Given the description of an element on the screen output the (x, y) to click on. 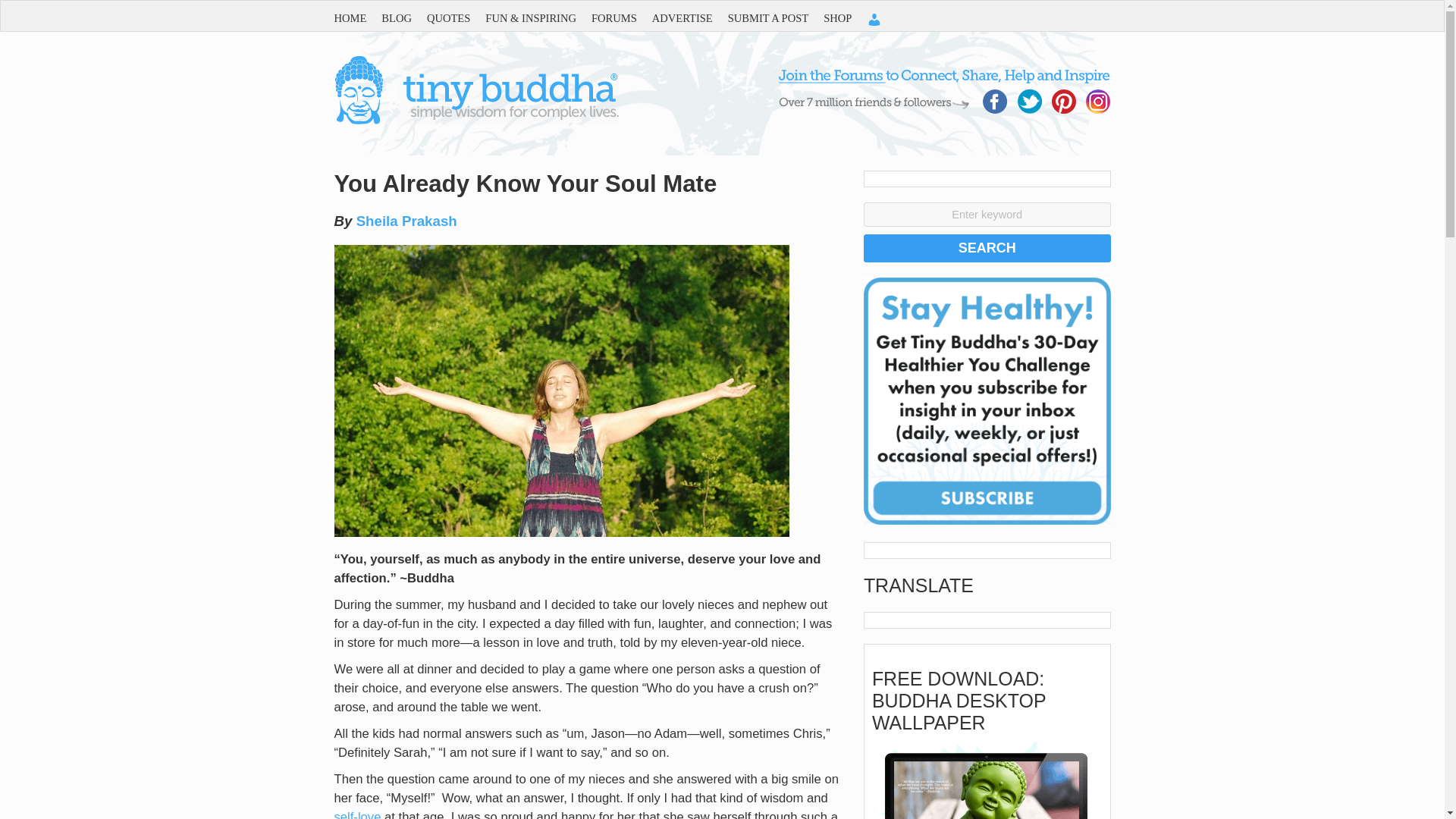
BLOG (403, 18)
Enter keyword (986, 214)
Posts by Sheila Prakash (406, 220)
How to Love Your Authentic Self (356, 814)
Search (986, 248)
Tiny Buddha (475, 121)
SUBMIT A POST (776, 18)
Search (986, 248)
Enter keyword (986, 214)
HOME (357, 18)
